Given the description of an element on the screen output the (x, y) to click on. 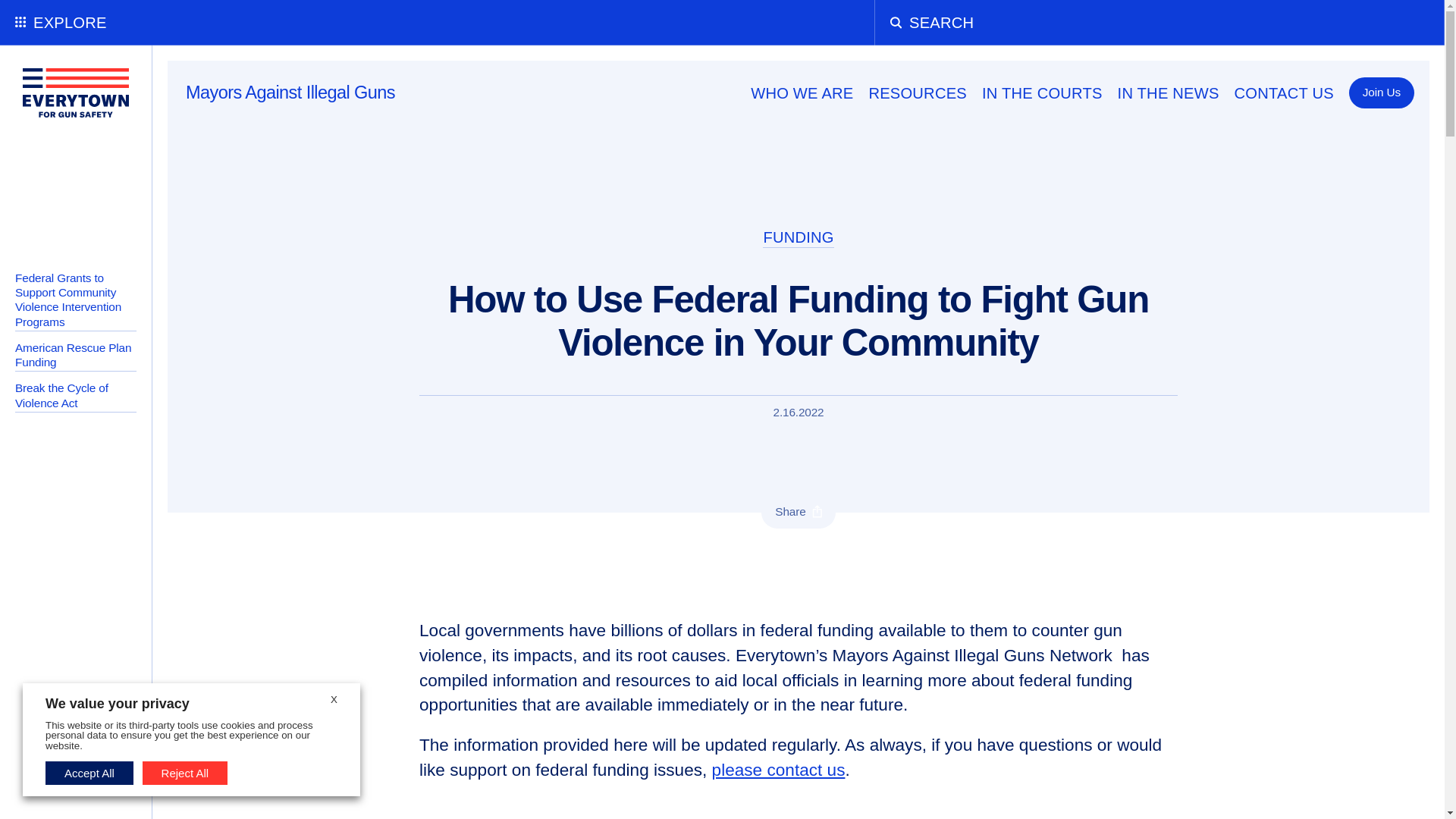
IN THE NEWS (1168, 92)
EXPLORE (75, 22)
Mayors Against Illegal Guns (290, 92)
Join Us (1381, 92)
RESOURCES (917, 92)
IN THE COURTS (1041, 92)
WHO WE ARE (801, 92)
CONTACT US (1283, 92)
